Given the description of an element on the screen output the (x, y) to click on. 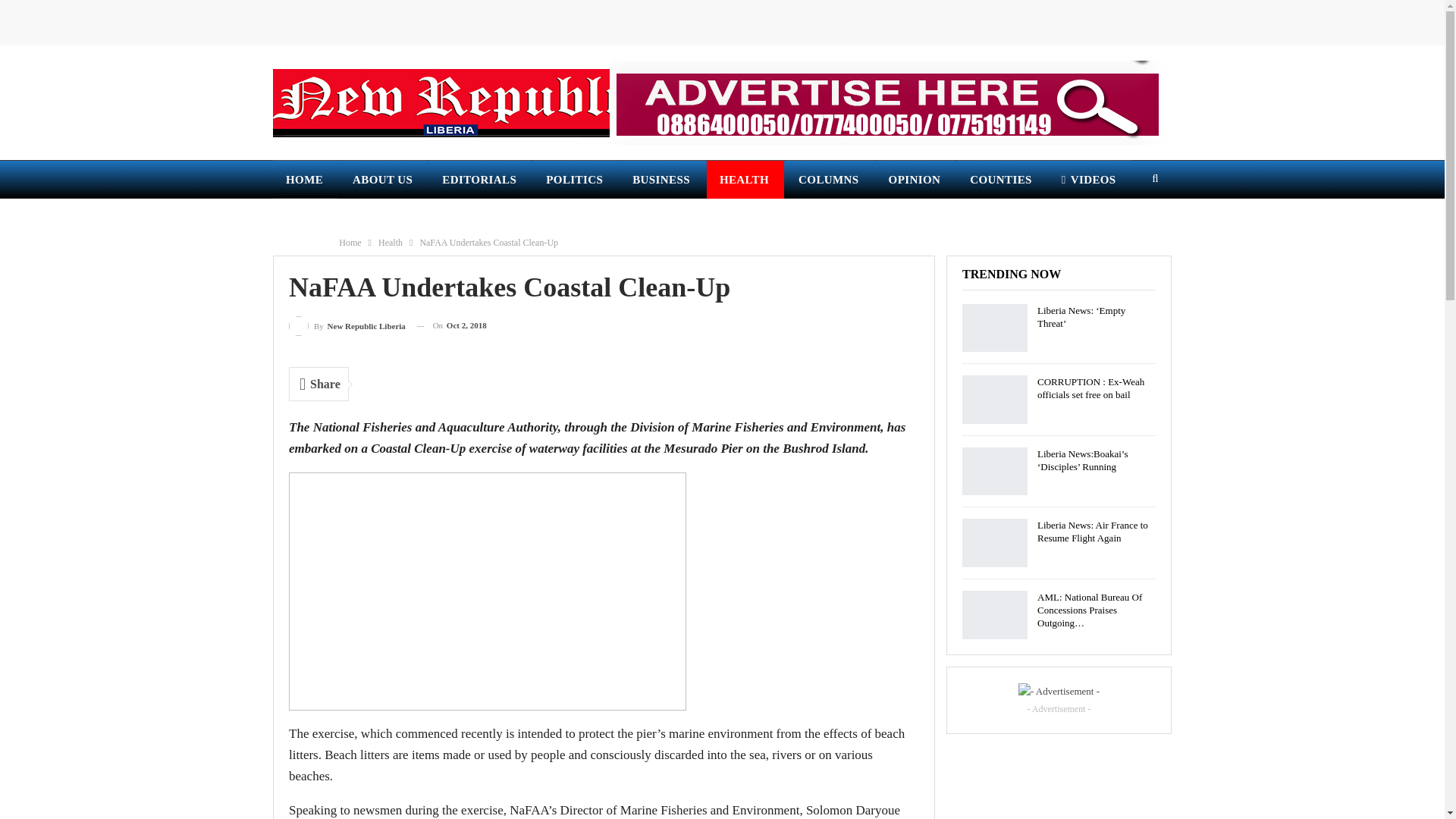
BUSINESS (662, 179)
ABOUT US (383, 179)
MORE (305, 217)
COUNTIES (1001, 179)
Browse Author Articles (347, 325)
OPINION (916, 179)
Home (350, 242)
EDITORIALS (480, 179)
Health (390, 242)
POLITICS (574, 179)
COLUMNS (829, 179)
VIDEOS (1089, 179)
HOME (305, 179)
HEALTH (745, 179)
